Given the description of an element on the screen output the (x, y) to click on. 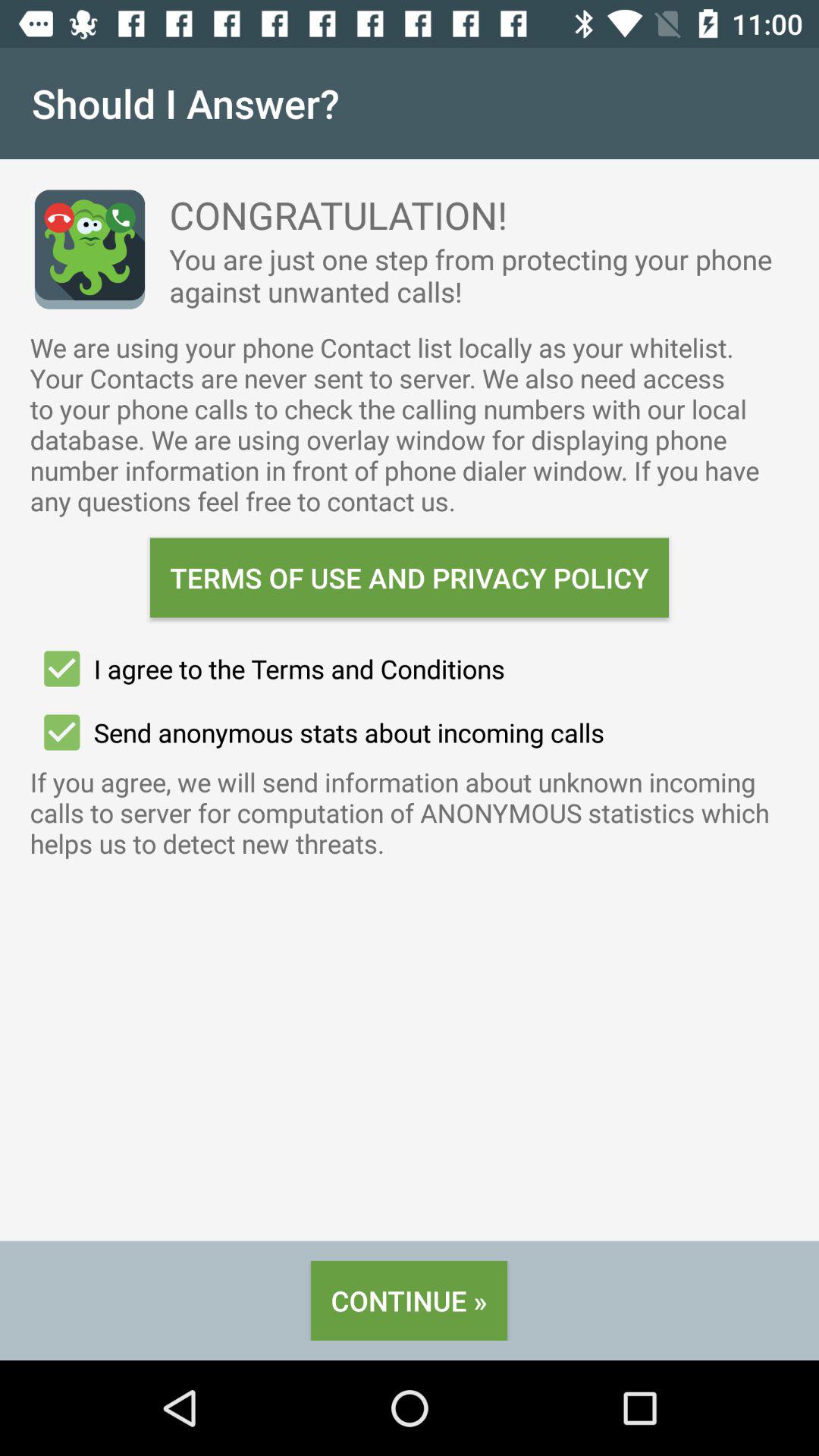
tap item below the we are using item (409, 577)
